Given the description of an element on the screen output the (x, y) to click on. 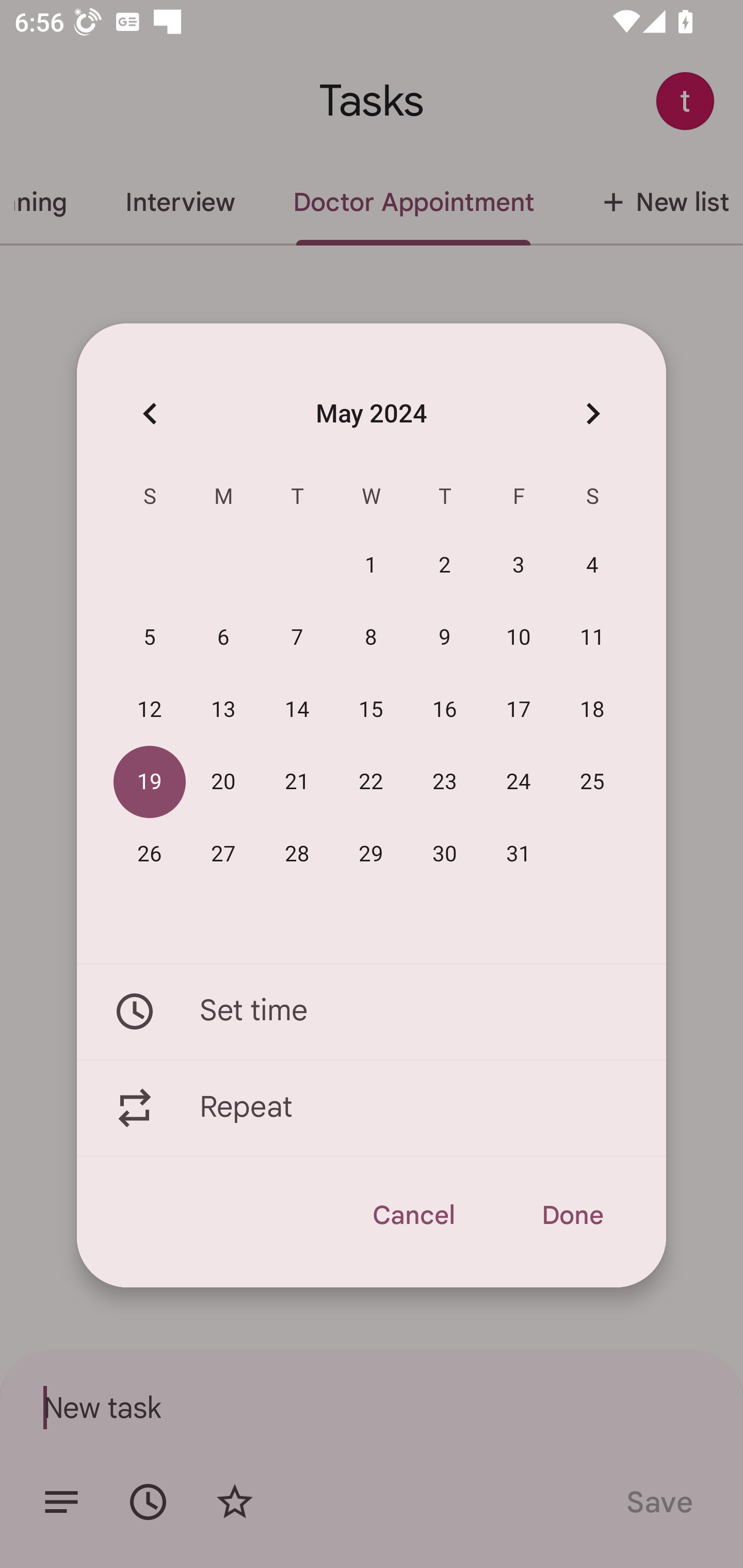
Previous month (149, 413)
Next month (592, 413)
1 01 May 2024 (370, 565)
2 02 May 2024 (444, 565)
3 03 May 2024 (518, 565)
4 04 May 2024 (592, 565)
5 05 May 2024 (149, 638)
6 06 May 2024 (223, 638)
7 07 May 2024 (297, 638)
8 08 May 2024 (370, 638)
9 09 May 2024 (444, 638)
10 10 May 2024 (518, 638)
11 11 May 2024 (592, 638)
12 12 May 2024 (149, 710)
13 13 May 2024 (223, 710)
14 14 May 2024 (297, 710)
15 15 May 2024 (370, 710)
16 16 May 2024 (444, 710)
17 17 May 2024 (518, 710)
18 18 May 2024 (592, 710)
19 19 May 2024 (149, 782)
20 20 May 2024 (223, 782)
21 21 May 2024 (297, 782)
22 22 May 2024 (370, 782)
23 23 May 2024 (444, 782)
24 24 May 2024 (518, 782)
25 25 May 2024 (592, 782)
26 26 May 2024 (149, 854)
27 27 May 2024 (223, 854)
28 28 May 2024 (297, 854)
29 29 May 2024 (370, 854)
30 30 May 2024 (444, 854)
31 31 May 2024 (518, 854)
Set time (371, 1011)
Repeat (371, 1108)
Cancel (412, 1215)
Done (571, 1215)
